Given the description of an element on the screen output the (x, y) to click on. 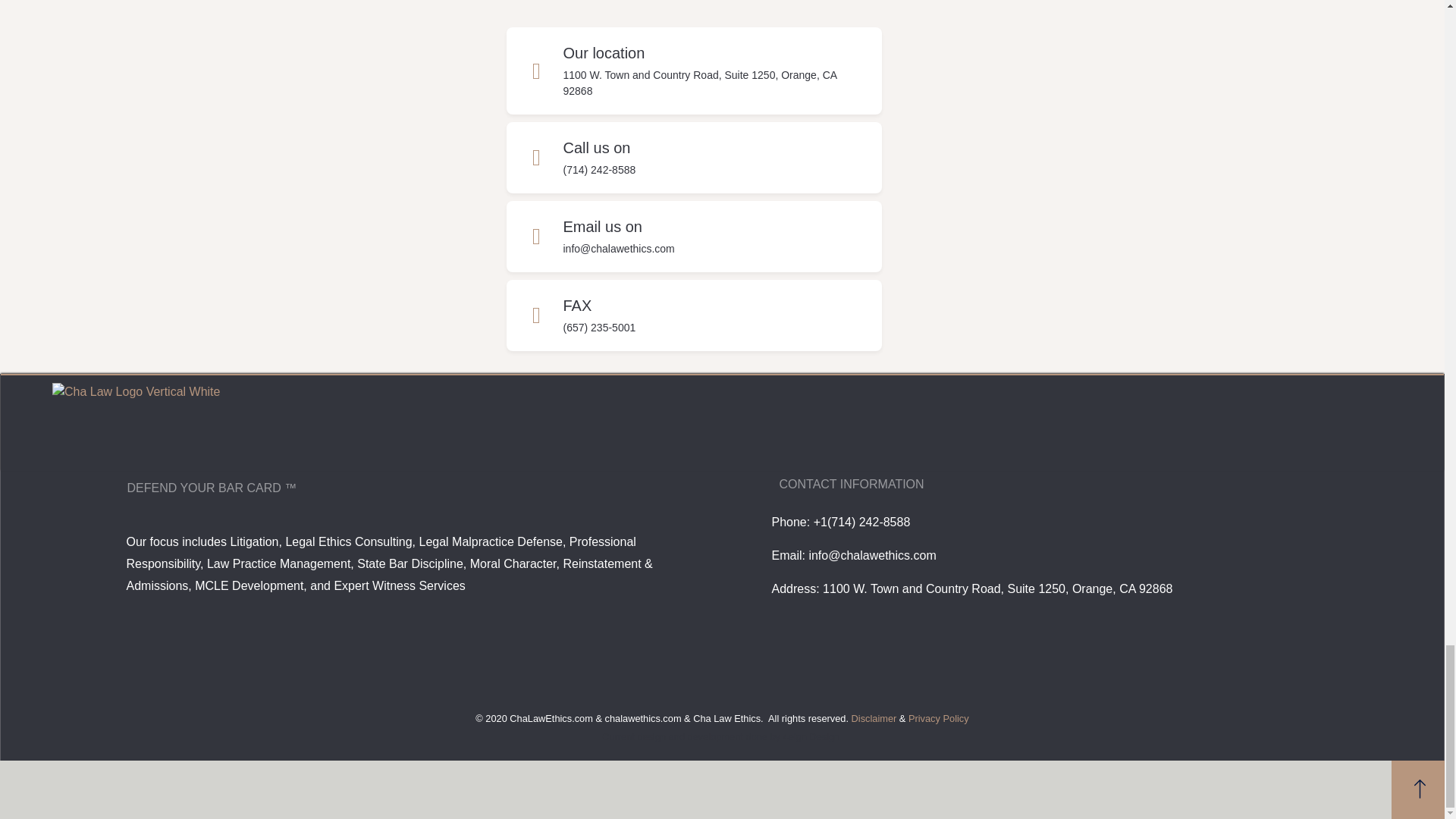
Cha Law Logo Vertical White (135, 424)
Call us on (596, 147)
Our location (603, 53)
Email us on (602, 226)
1100 W. Town and Country Road, Suite 1250, Orange, CA 92868 (698, 82)
Disclaimer (873, 717)
